Given the description of an element on the screen output the (x, y) to click on. 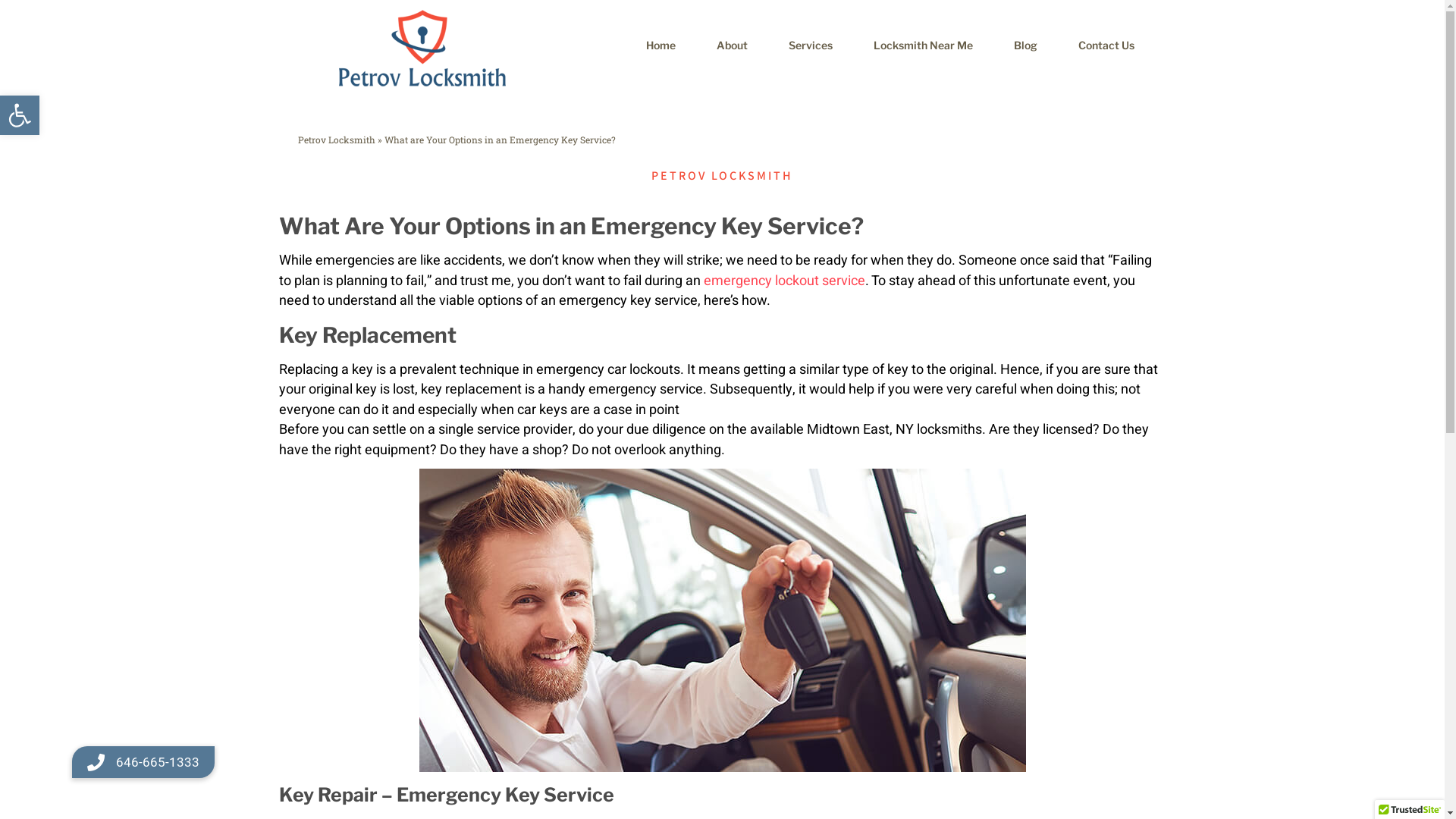
Petrov Locksmith Element type: text (335, 139)
Open toolbar
Accessibility Tools Element type: text (19, 114)
Services Element type: text (809, 45)
About Element type: text (732, 45)
Blog Element type: text (1025, 45)
Home Element type: text (659, 45)
646-665-1333 Element type: text (143, 762)
emergency lockout service Element type: text (784, 280)
Locksmith Near Me Element type: text (922, 45)
Contact Us Element type: text (1105, 45)
PETROV LOCKSMITH Element type: text (721, 174)
